Given the description of an element on the screen output the (x, y) to click on. 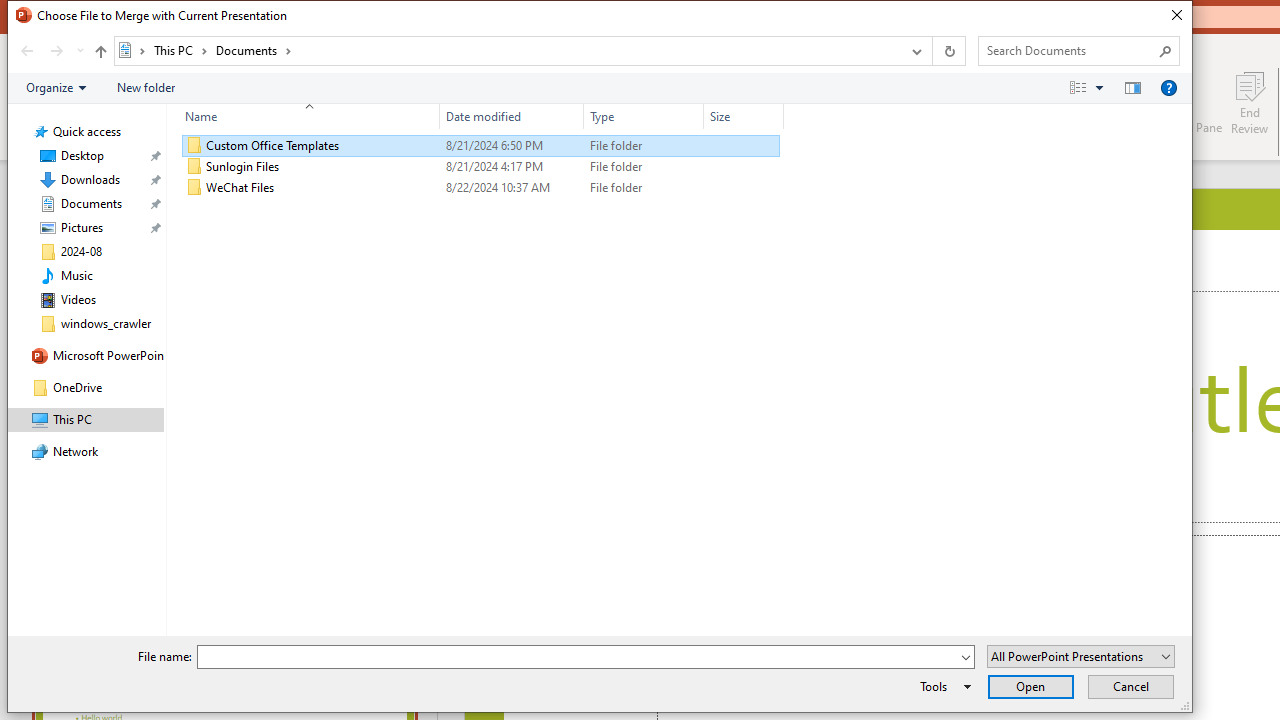
Previous Locations (914, 51)
Filter dropdown (775, 115)
Up to "This PC" (Alt + Up Arrow) (100, 52)
Size (743, 115)
Search Box (1069, 50)
Name (303, 115)
Recent locations (79, 51)
Custom Office Templates (480, 145)
This PC (180, 50)
Sunlogin Files (480, 166)
Refresh "Documents" (F5) (948, 51)
Class: UIImage (194, 187)
Up band toolbar (100, 54)
